Given the description of an element on the screen output the (x, y) to click on. 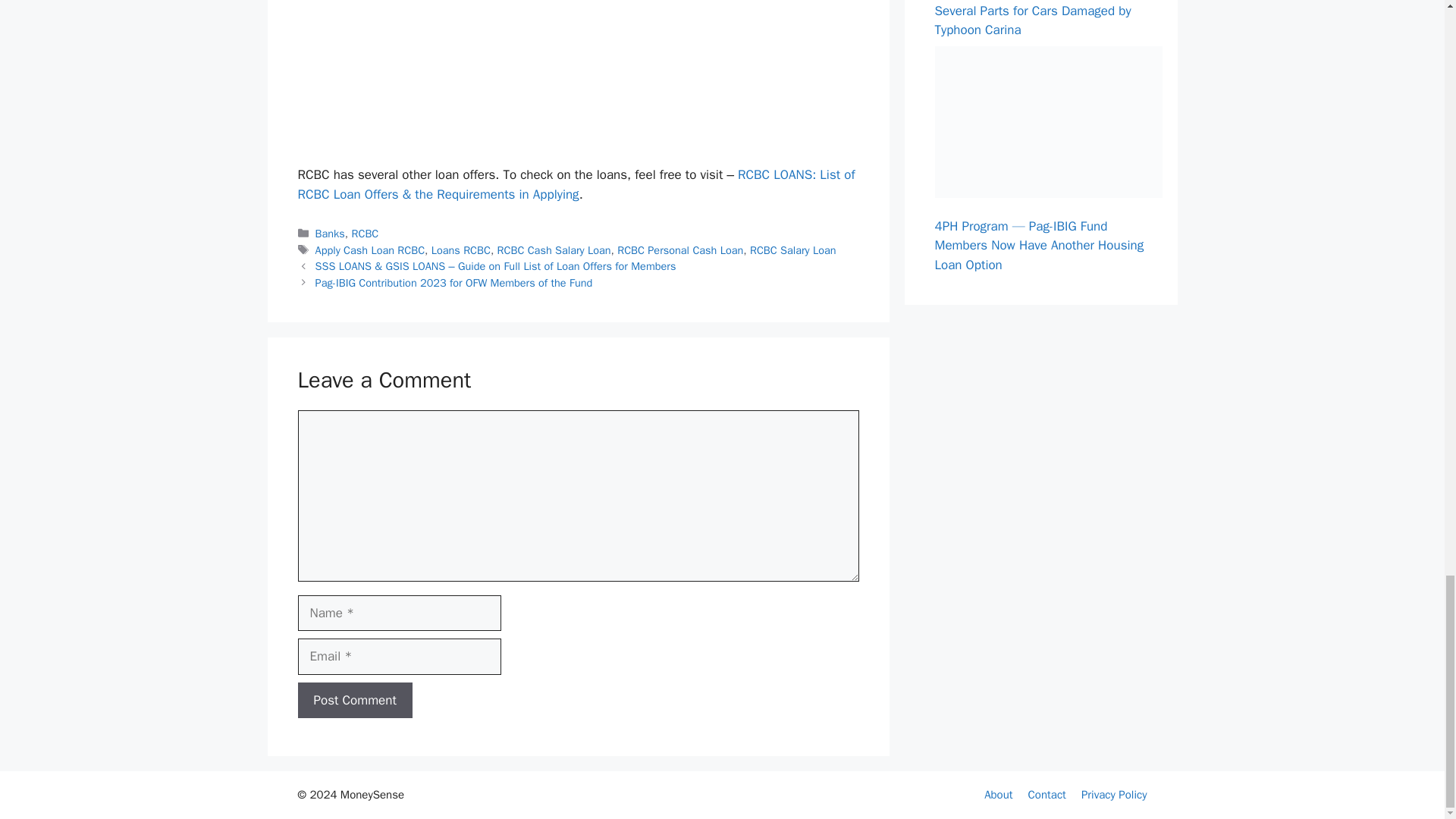
RCBC Personal Cash Loan (679, 250)
Post Comment (354, 700)
RCBC Cash Salary Loan (554, 250)
RCBC (365, 233)
Banks (330, 233)
Advertisement (585, 79)
Post Comment (354, 700)
Pag-IBIG Contribution 2023 for OFW Members of the Fund (453, 282)
RCBC Salary Loan (792, 250)
Loans RCBC (460, 250)
Apply Cash Loan RCBC (370, 250)
